Given the description of an element on the screen output the (x, y) to click on. 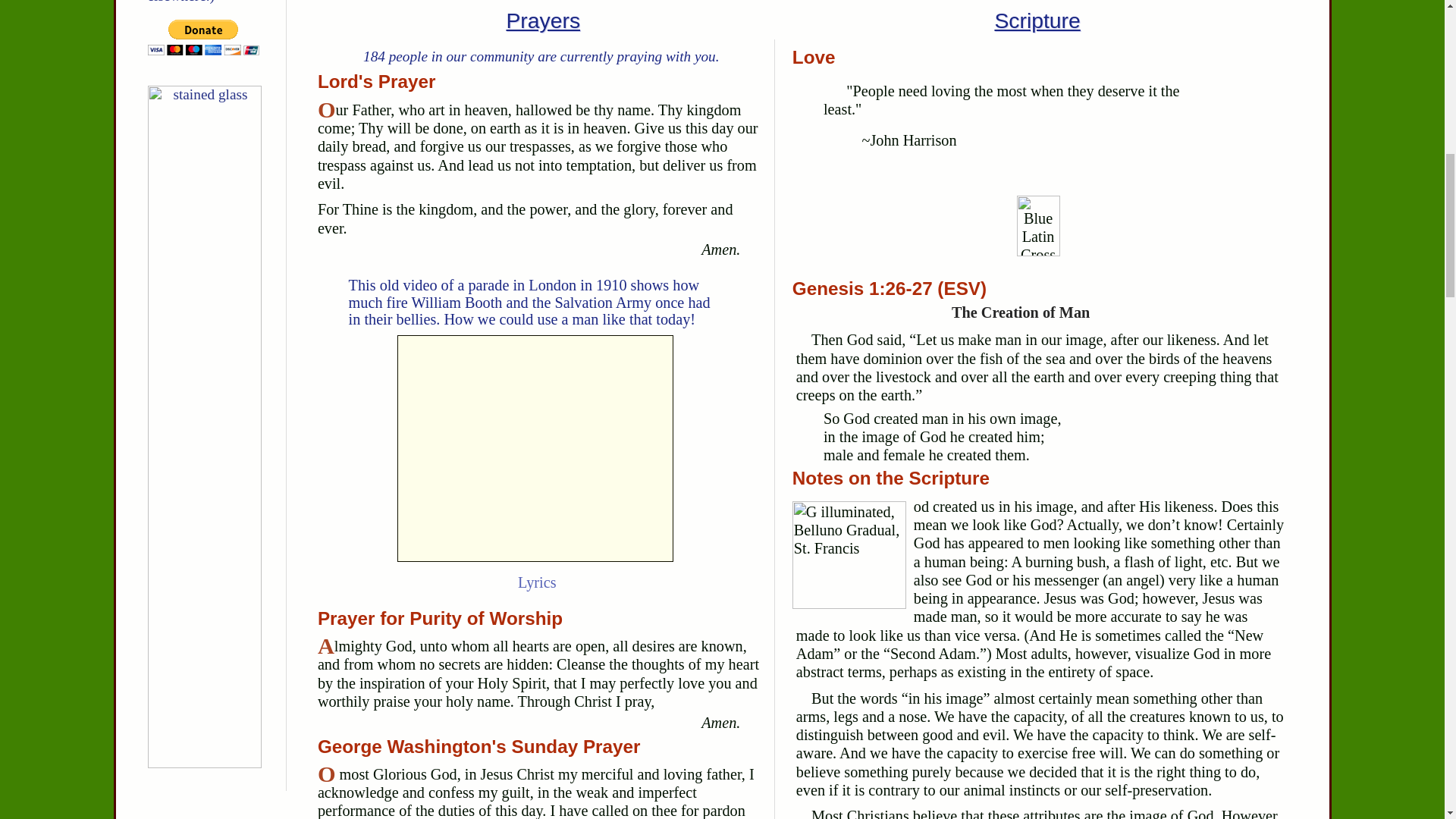
Lyrics (537, 582)
